Given the description of an element on the screen output the (x, y) to click on. 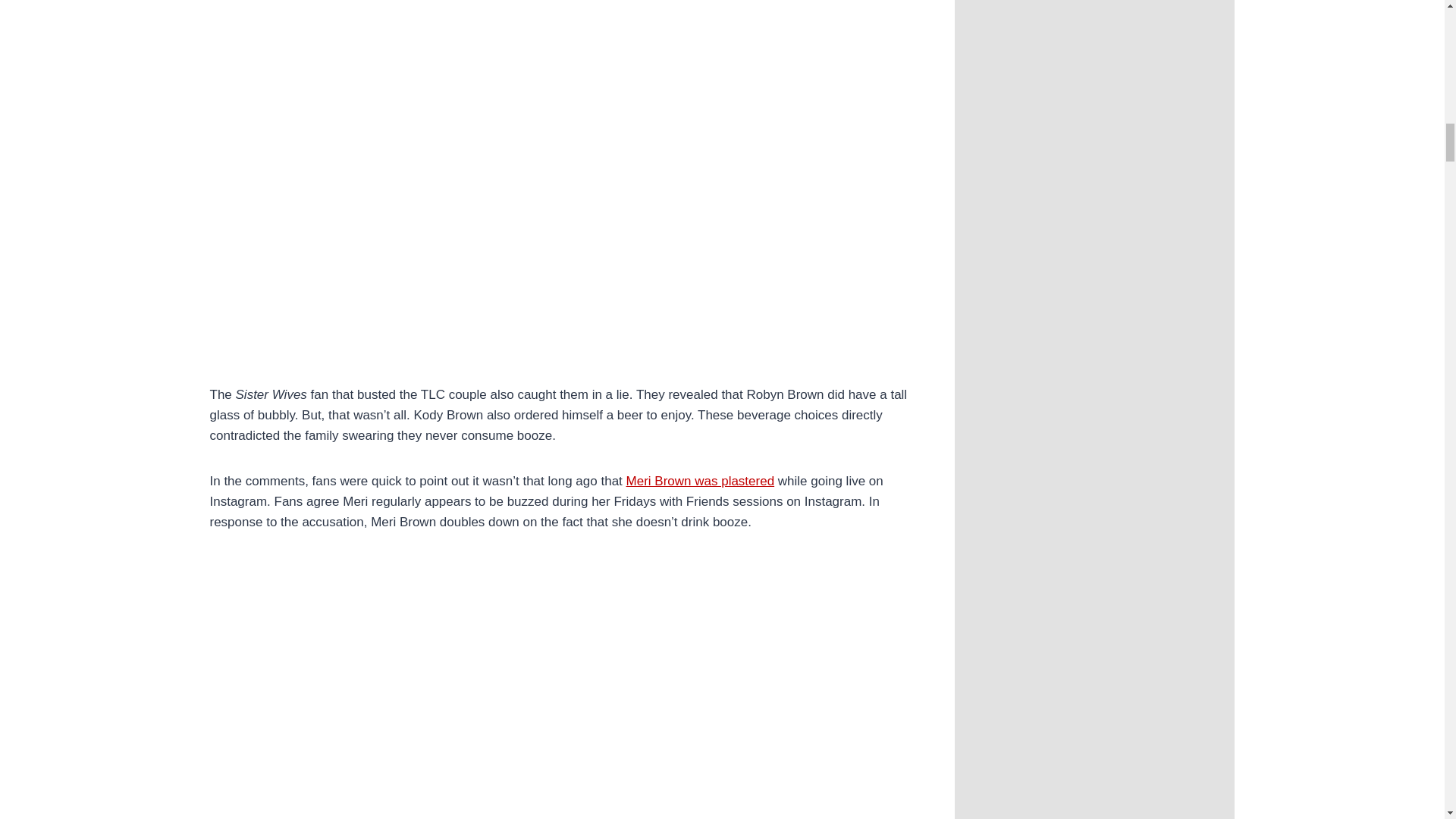
Meri Brown was plastered (700, 481)
